Given the description of an element on the screen output the (x, y) to click on. 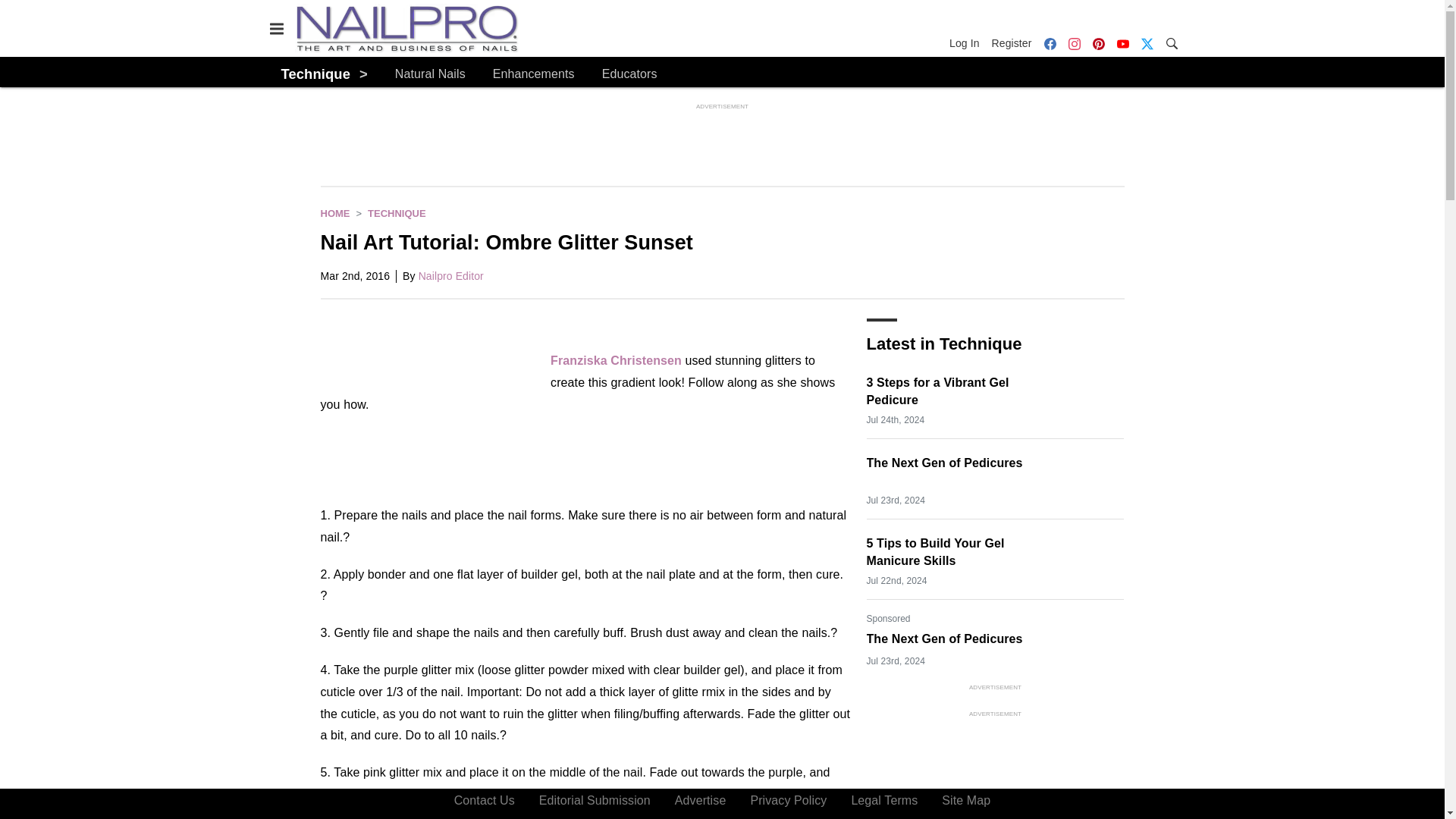
Twitter X icon (1146, 43)
Instagram icon (1073, 43)
Search (1170, 42)
HOME (334, 213)
Twitter X icon (1146, 43)
Natural Nails (429, 74)
Pinterest icon (1097, 43)
Sponsored (888, 618)
Register (1011, 43)
Pinterest icon (1097, 43)
Home (334, 213)
Enhancements (534, 74)
Log In (967, 43)
Facebook icon (1049, 43)
Facebook icon (1048, 43)
